Given the description of an element on the screen output the (x, y) to click on. 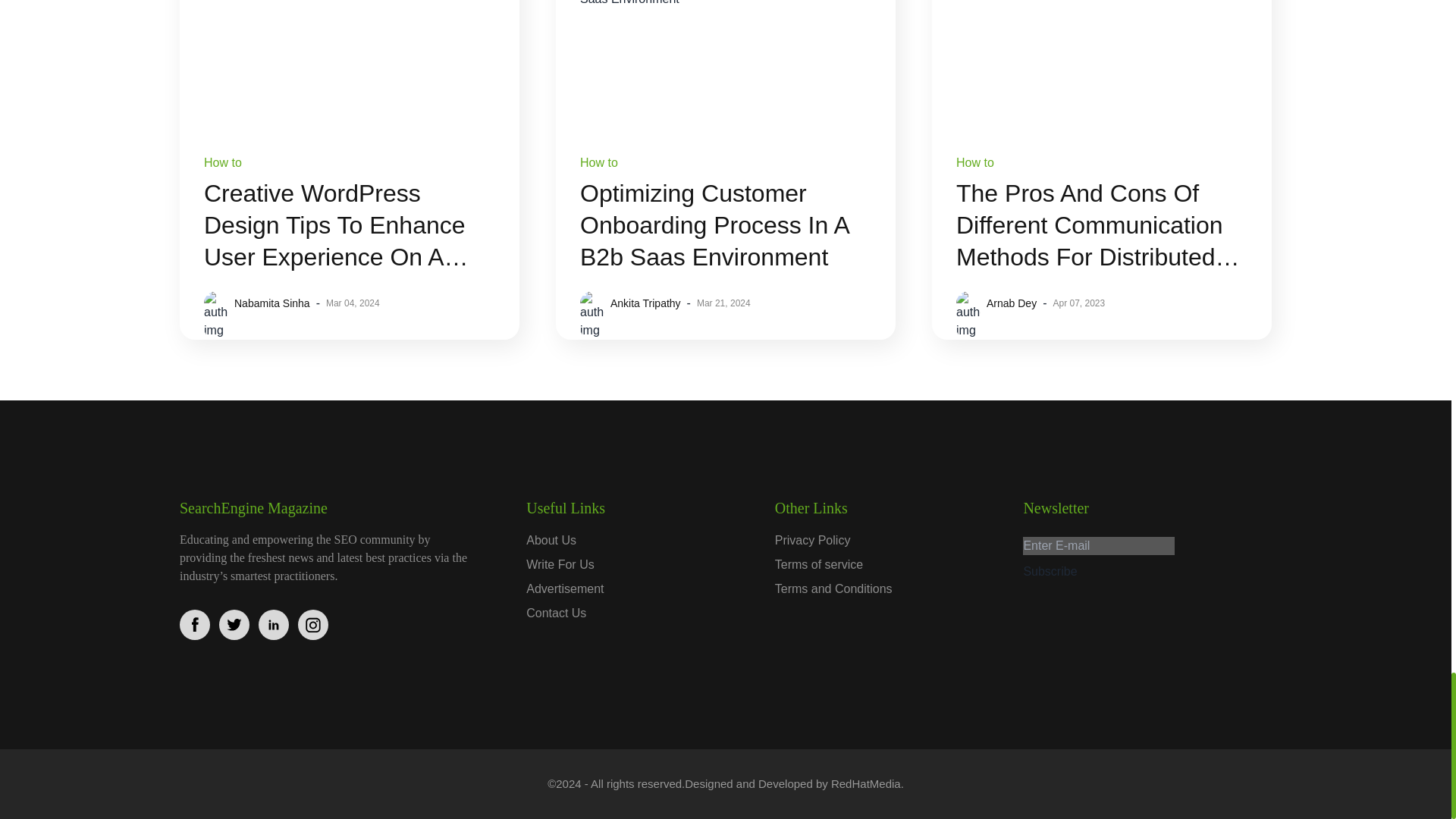
Posts by Nabamita Sinha (272, 303)
Subscribe (1050, 571)
Posts by Ankita Tripathy (645, 303)
Posts by Arnab Dey (1011, 303)
